Given the description of an element on the screen output the (x, y) to click on. 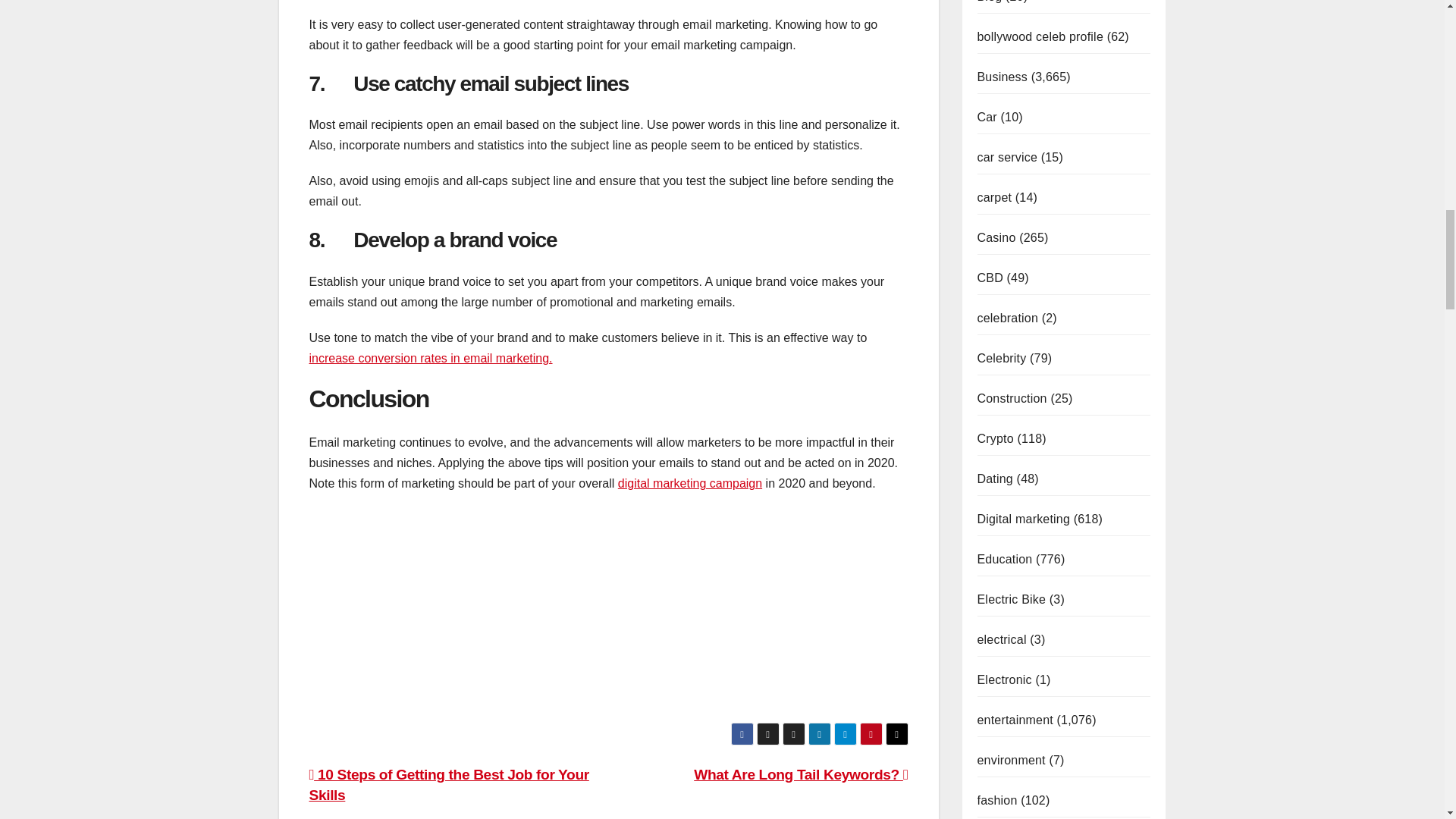
digital marketing campaign (689, 482)
What Are Long Tail Keywords? (800, 774)
increase conversion rates in email marketing. (430, 358)
10 Steps of Getting the Best Job for Your Skills (448, 784)
